Given the description of an element on the screen output the (x, y) to click on. 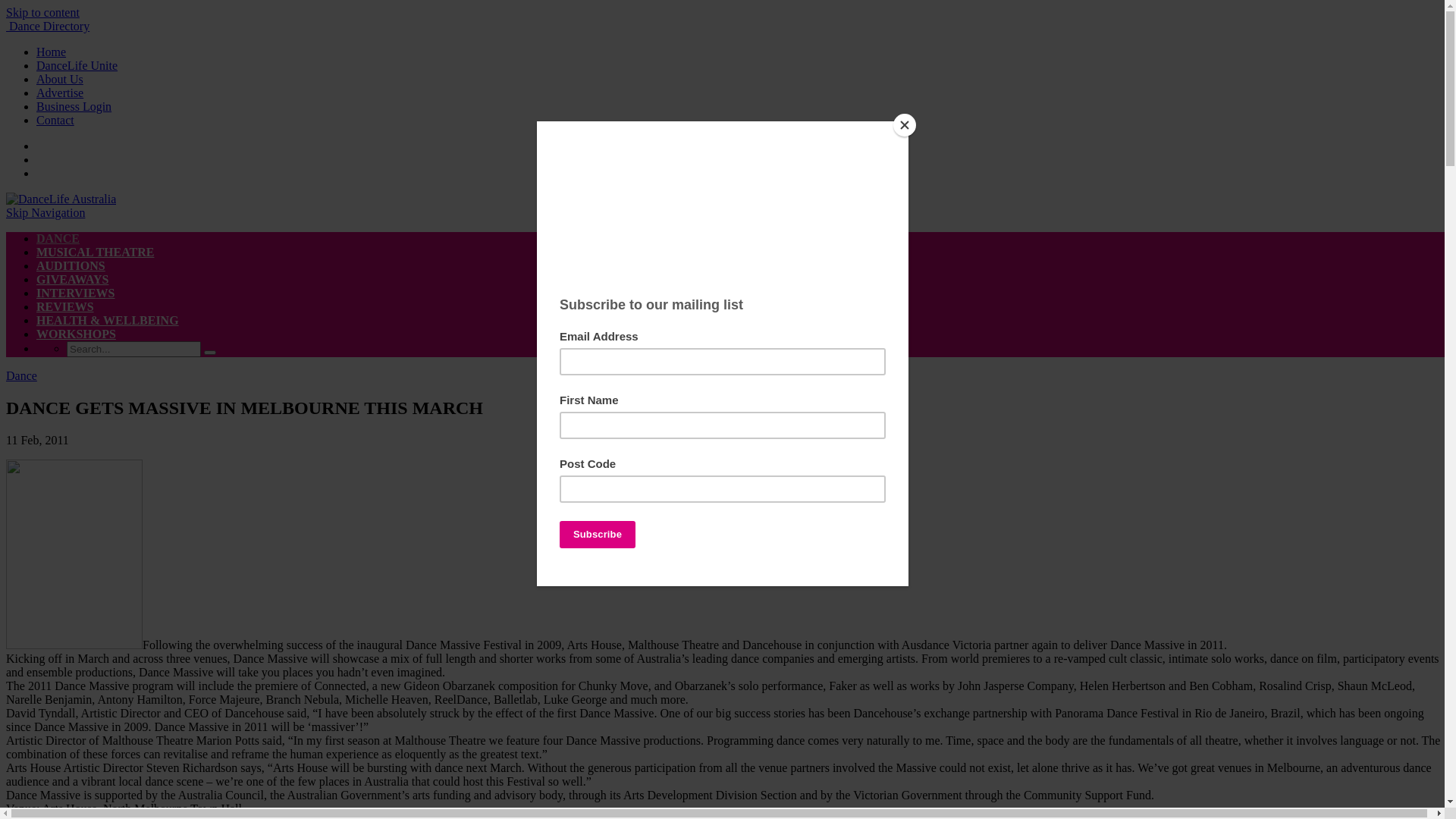
Advertise Element type: text (59, 92)
DanceLife Australia Element type: hover (61, 198)
AUDITIONS Element type: text (70, 265)
GIVEAWAYS Element type: text (72, 279)
HEALTH & WELLBEING Element type: text (107, 319)
MUSICAL THEATRE Element type: text (94, 251)
Skip Navigation Element type: text (45, 212)
Dance Element type: text (21, 375)
WORKSHOPS Element type: text (76, 333)
 Dance Directory Element type: text (47, 25)
DANCE Element type: text (57, 238)
Contact Element type: text (55, 119)
Dance Massive Element type: hover (74, 554)
DanceLife Unite Element type: text (76, 65)
REVIEWS Element type: text (65, 306)
Home Element type: text (50, 51)
Skip to content Element type: text (42, 12)
About Us Element type: text (59, 78)
Business Login Element type: text (73, 106)
INTERVIEWS Element type: text (75, 292)
